Given the description of an element on the screen output the (x, y) to click on. 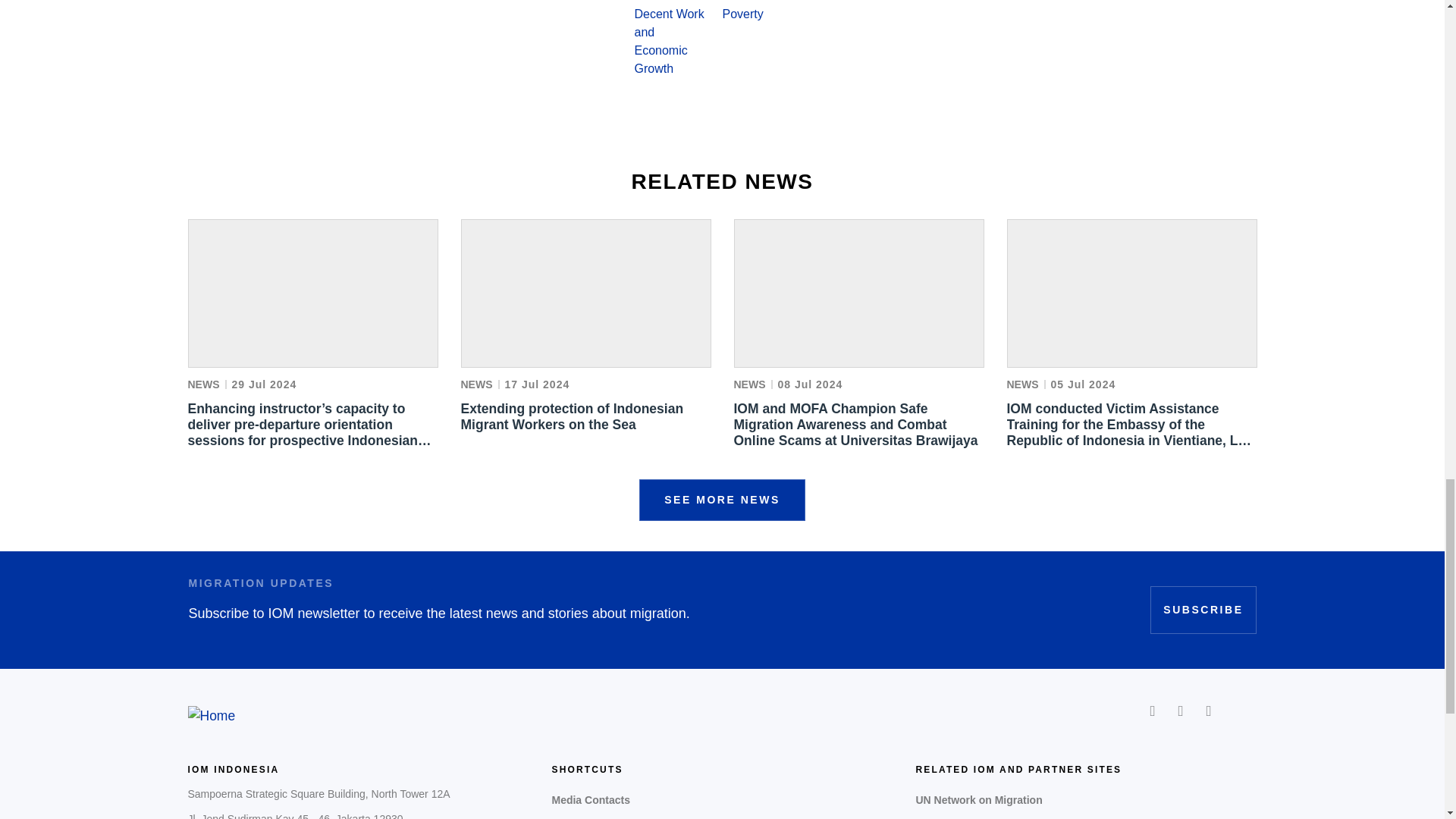
Home (211, 715)
